Given the description of an element on the screen output the (x, y) to click on. 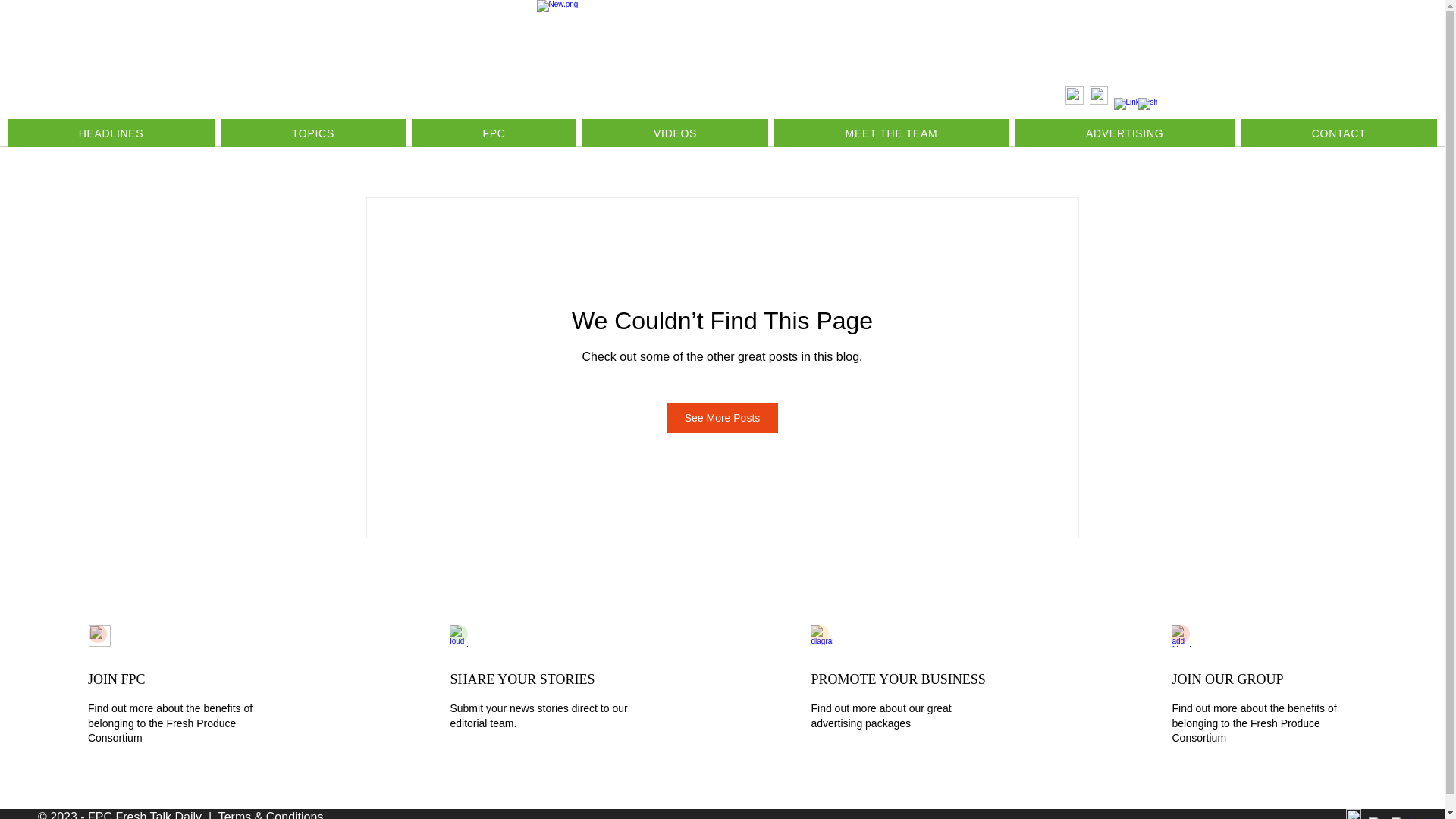
PROMOTE YOUR BUSINESS (897, 679)
partnership.png (821, 635)
partnership.png (460, 635)
partnership.png (1182, 635)
Find out more about our great advertising packages (880, 715)
FPC (494, 132)
JOIN OUR GROUP (1227, 679)
ADVERTISING (1124, 132)
SHARE YOUR STORIES (521, 679)
